Given the description of an element on the screen output the (x, y) to click on. 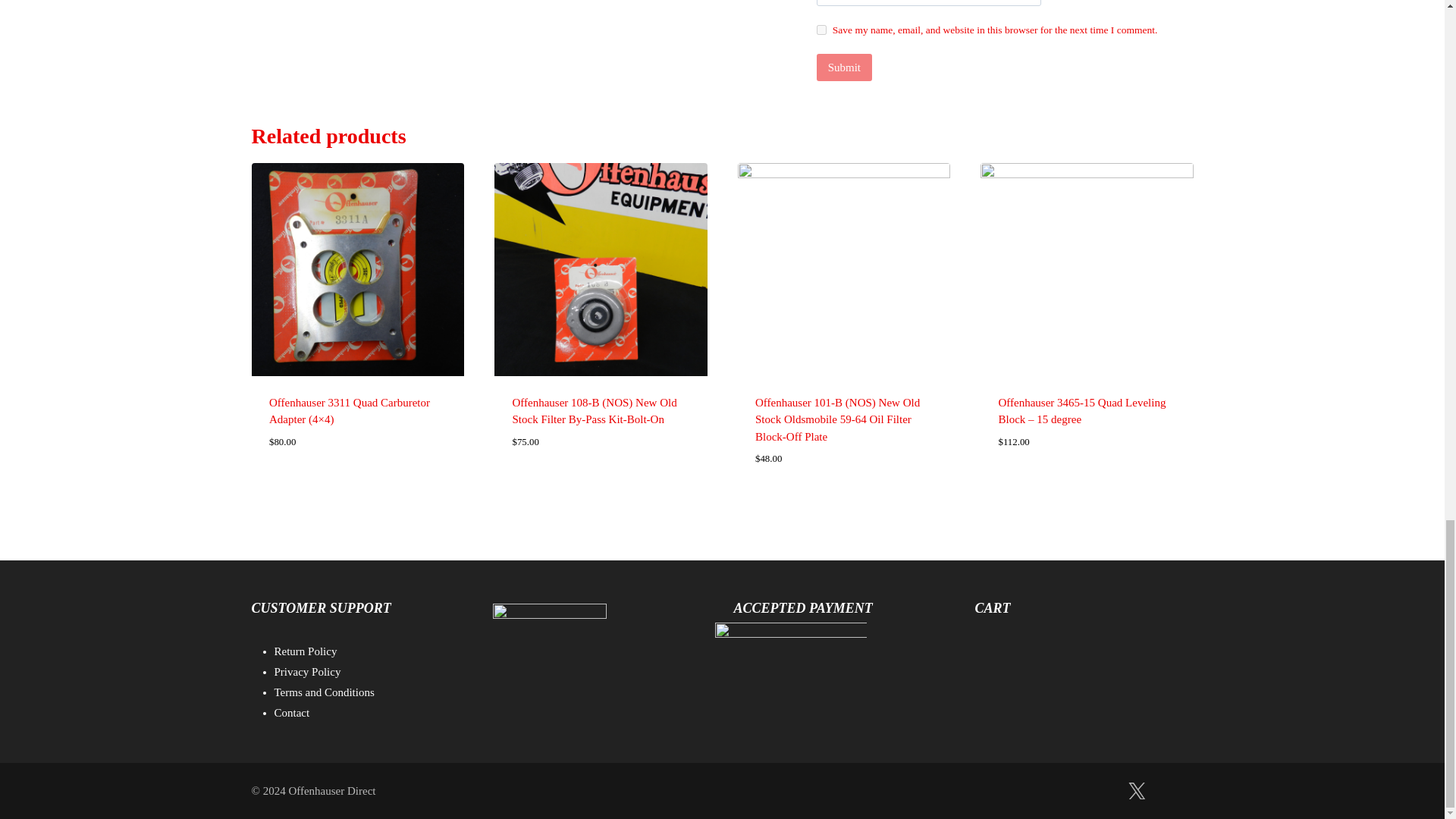
Submit (844, 67)
yes (821, 30)
